Given the description of an element on the screen output the (x, y) to click on. 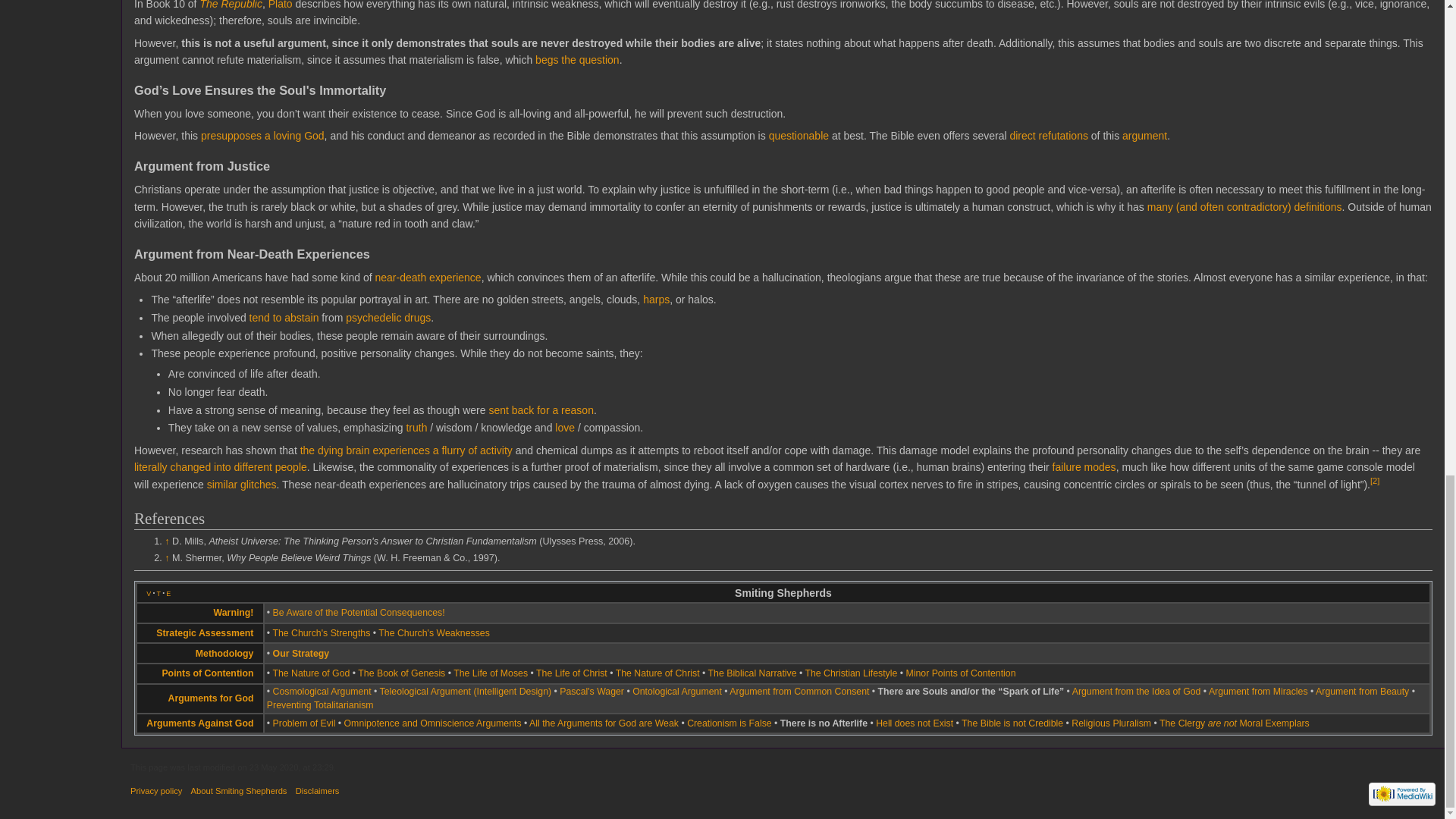
psychedelic drugs (388, 317)
Points of Contention with the Nature of God (1063, 135)
direct (1022, 135)
The Republic (230, 4)
Warning! (233, 612)
sent back for a reason (540, 410)
Our Strategy (224, 653)
refutations (1063, 135)
Warning! (359, 612)
begs the question (577, 60)
Points of Contention with the Nature of God (798, 135)
questionable (798, 135)
harps (656, 299)
The Church's Strengths (320, 633)
tend to abstain (283, 317)
